Given the description of an element on the screen output the (x, y) to click on. 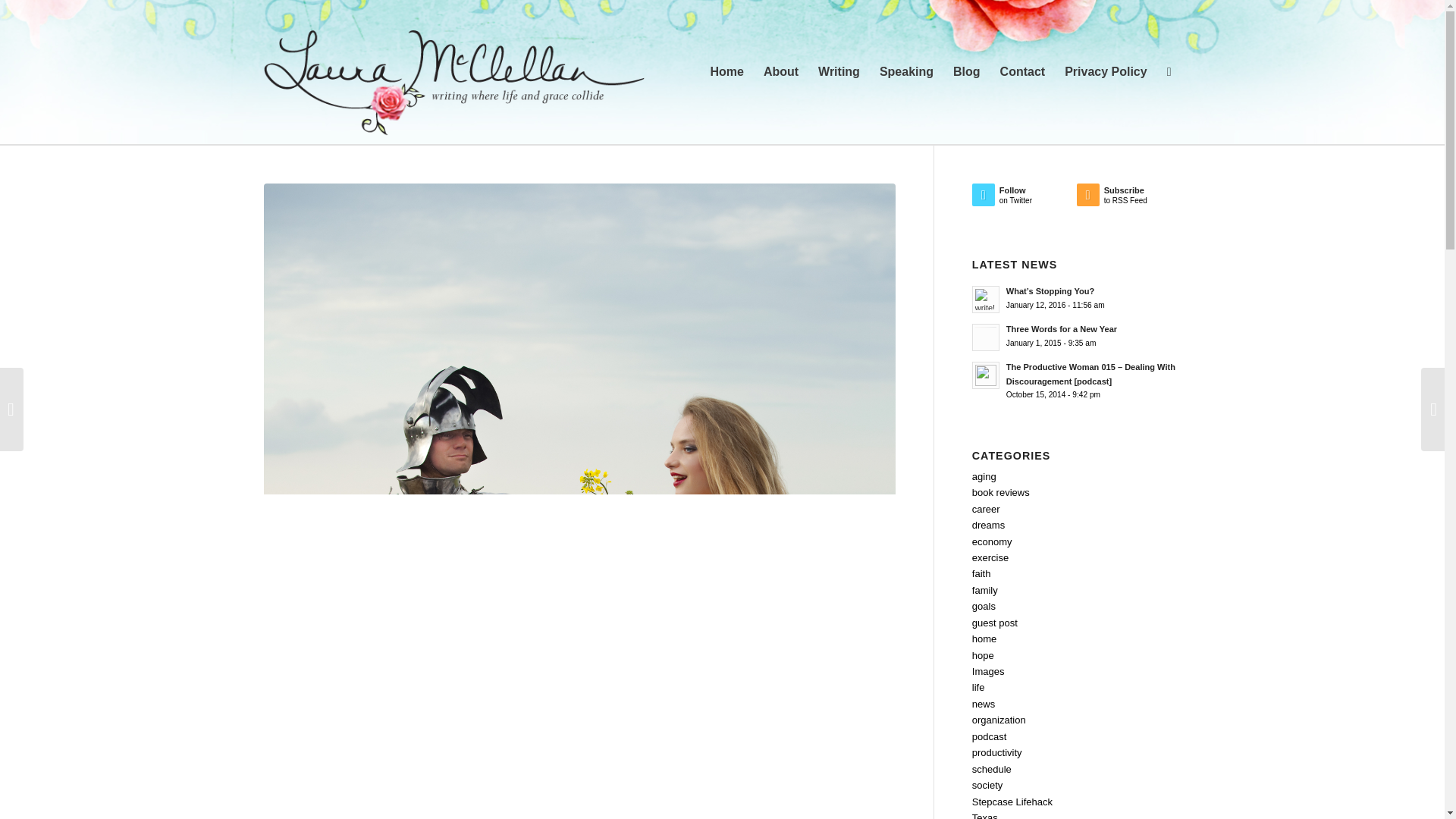
logo (1128, 198)
